Given the description of an element on the screen output the (x, y) to click on. 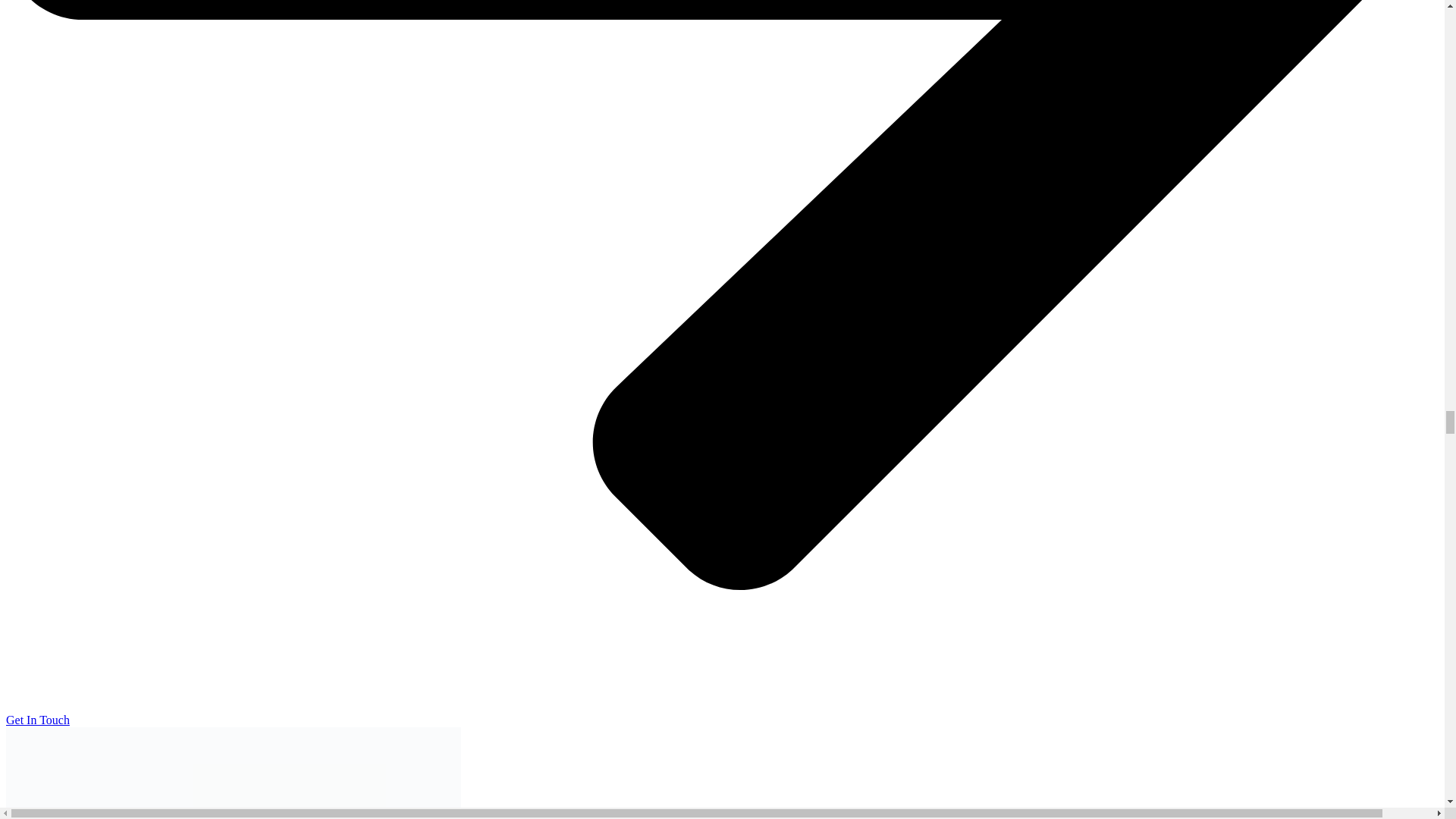
hire plates and cutlery london (233, 773)
